Given the description of an element on the screen output the (x, y) to click on. 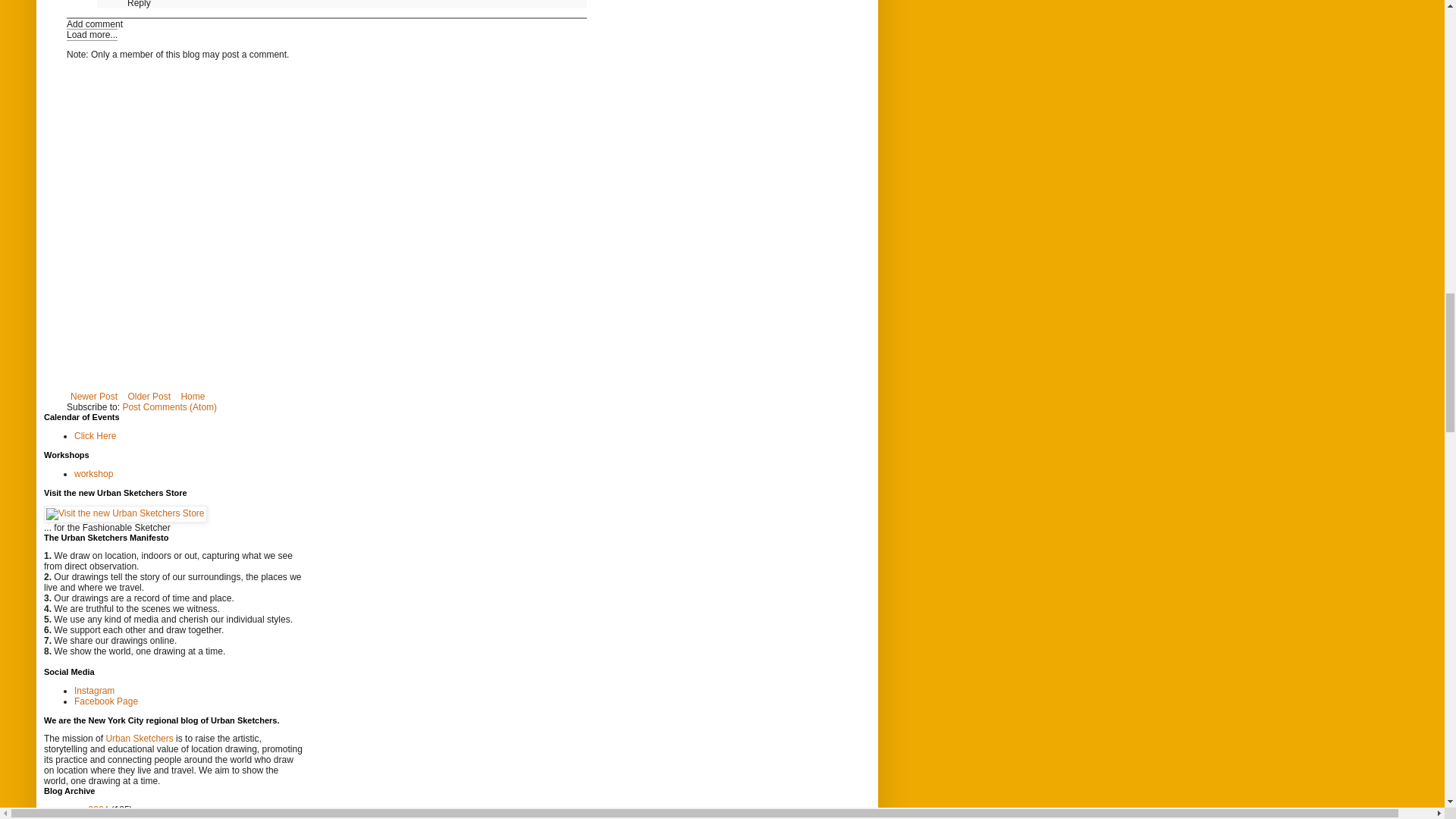
Older Post (148, 396)
Reply (139, 4)
Add comment (94, 23)
Load more... (91, 34)
Newer Post (93, 396)
